Given the description of an element on the screen output the (x, y) to click on. 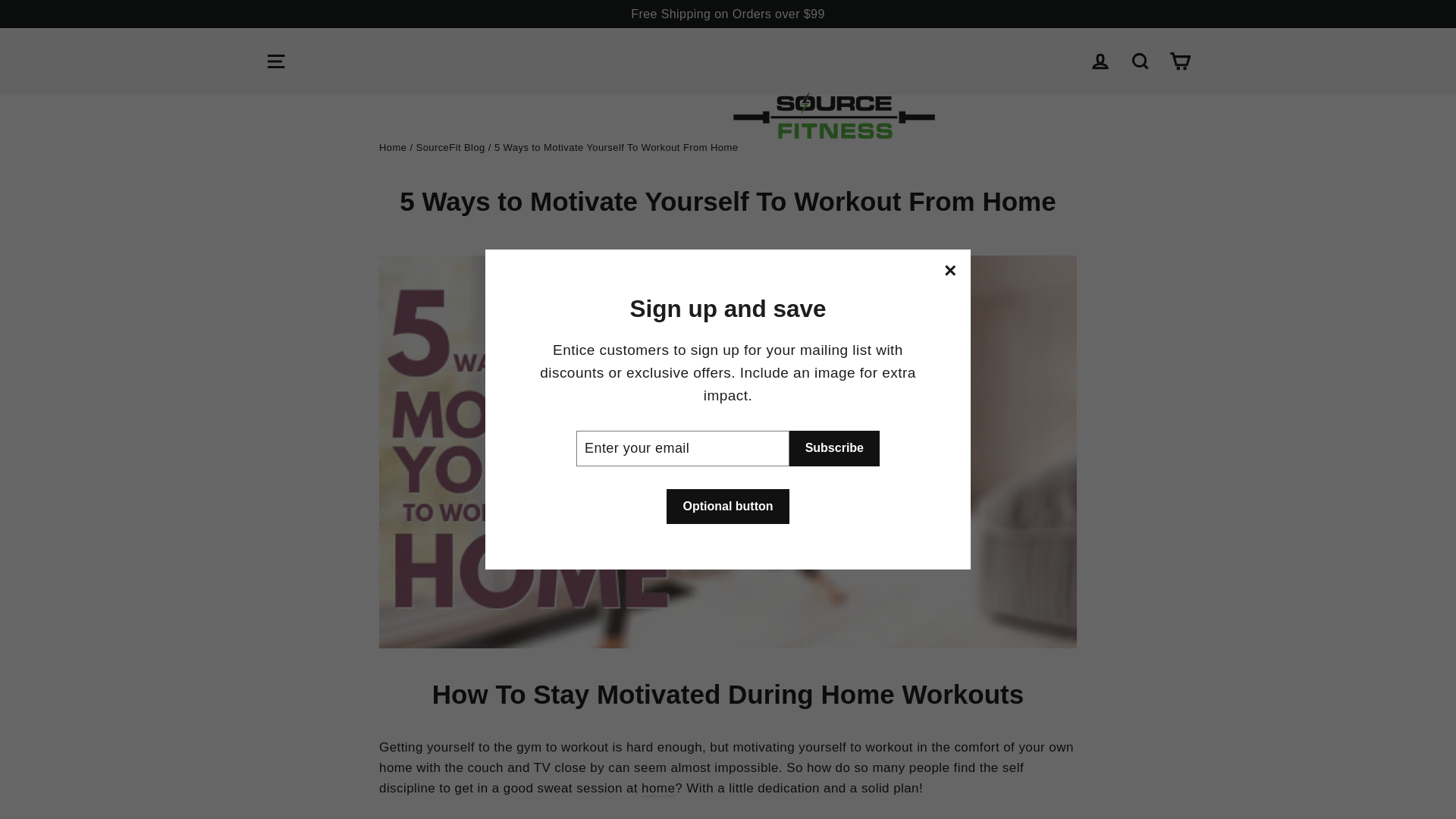
icon-hamburger (275, 61)
account (1099, 61)
Back to the frontpage (392, 147)
icon-cart (1180, 61)
icon-X (949, 270)
icon-search (1140, 61)
